Given the description of an element on the screen output the (x, y) to click on. 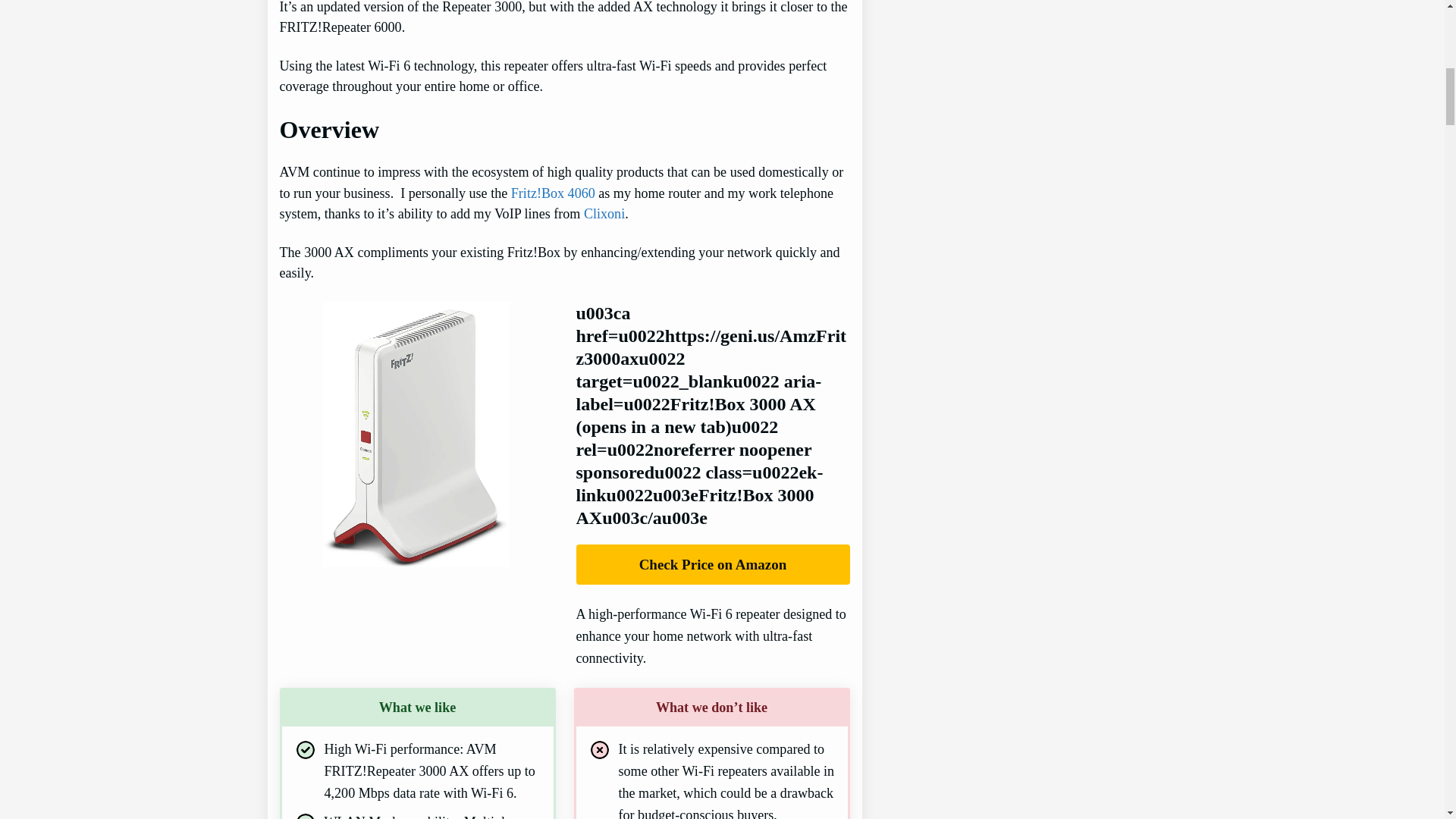
Fritz!Box 4060 (553, 192)
Check Price on Amazon (713, 564)
Clixoni (603, 213)
